Given the description of an element on the screen output the (x, y) to click on. 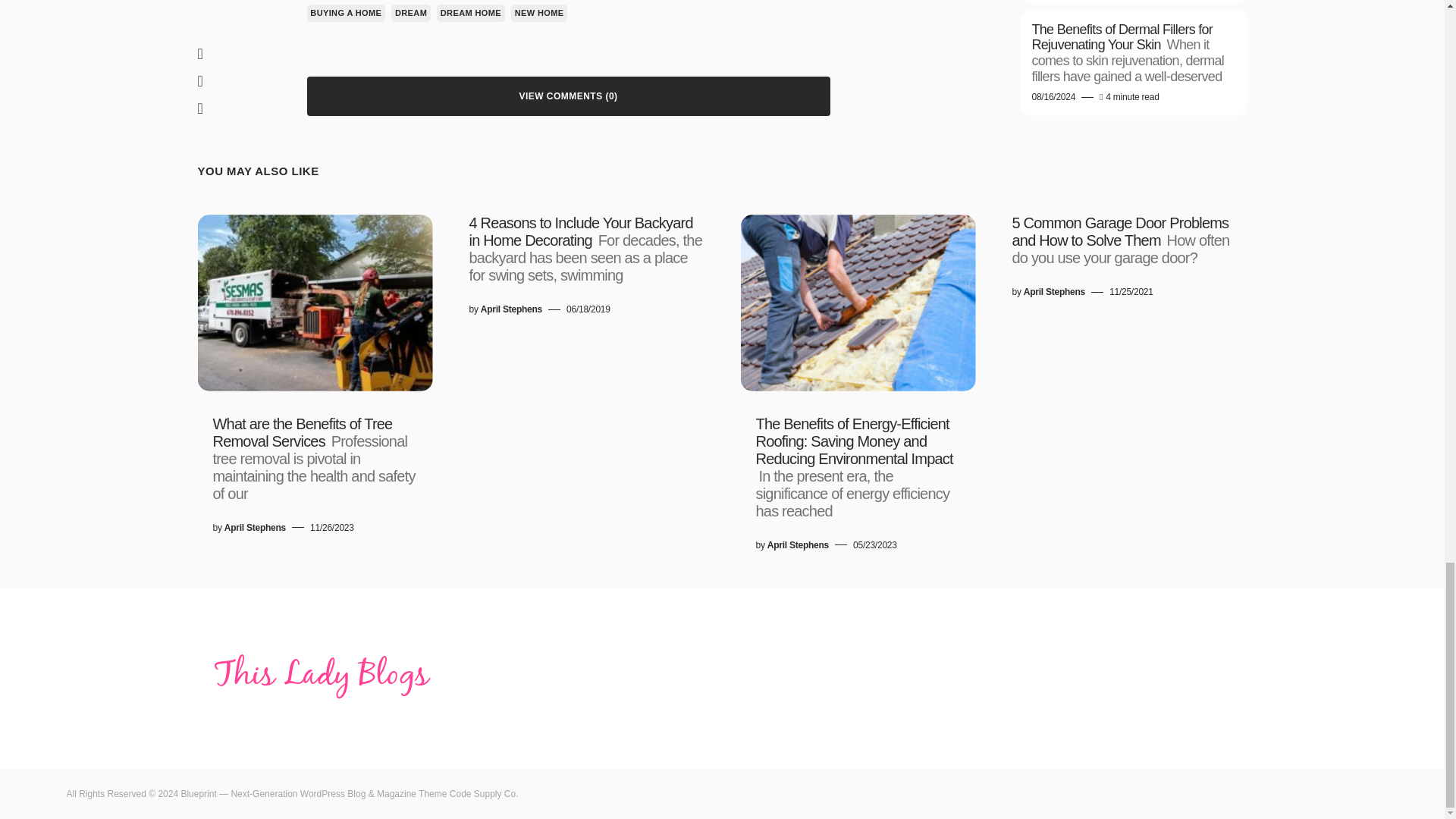
View all posts by April Stephens (510, 309)
View all posts by April Stephens (254, 527)
View all posts by April Stephens (1053, 291)
View all posts by April Stephens (797, 545)
